Given the description of an element on the screen output the (x, y) to click on. 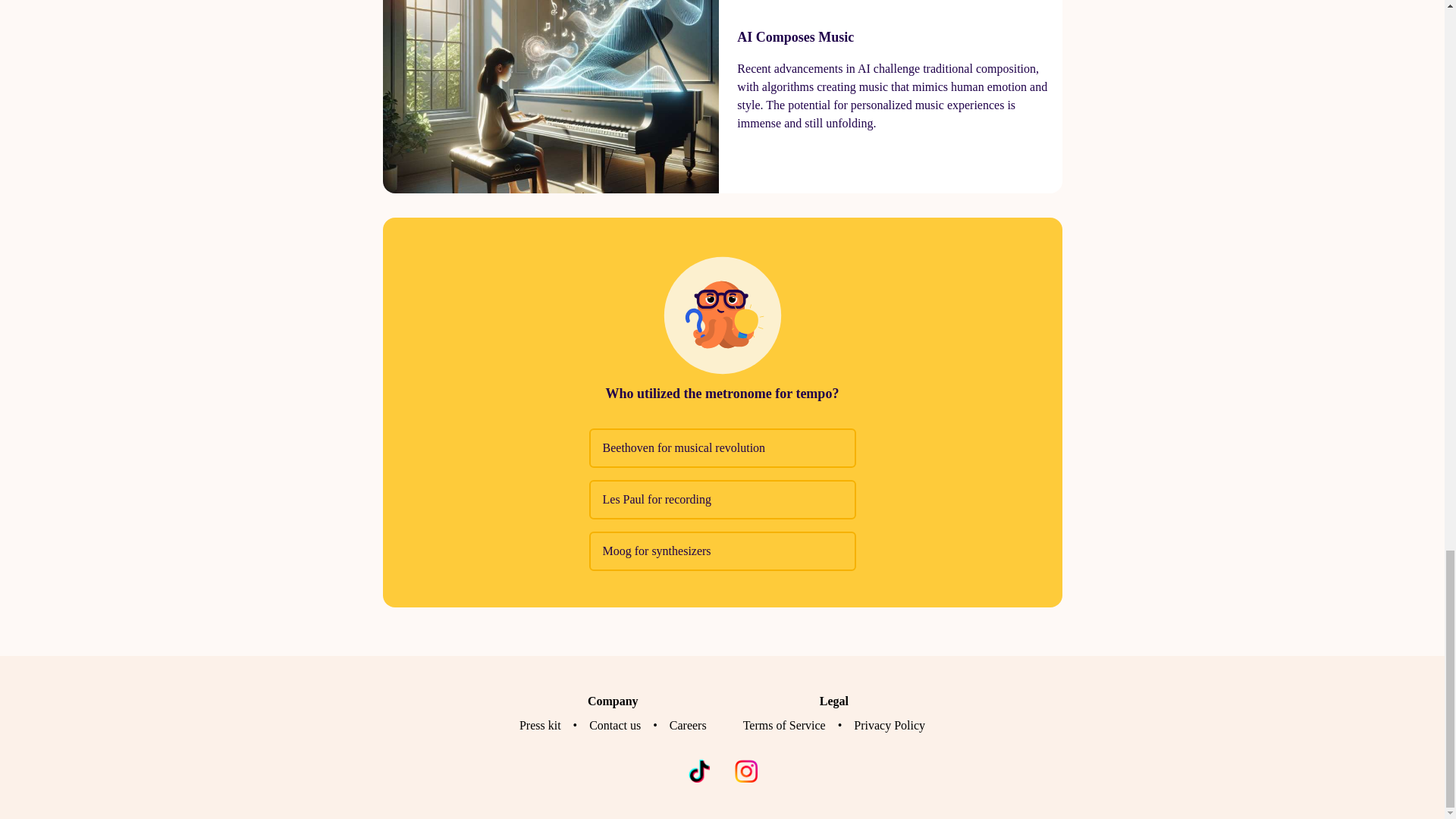
Press kit (539, 725)
Careers (687, 725)
Privacy Policy (888, 725)
Terms of Service (783, 725)
Contact us (614, 725)
